Given the description of an element on the screen output the (x, y) to click on. 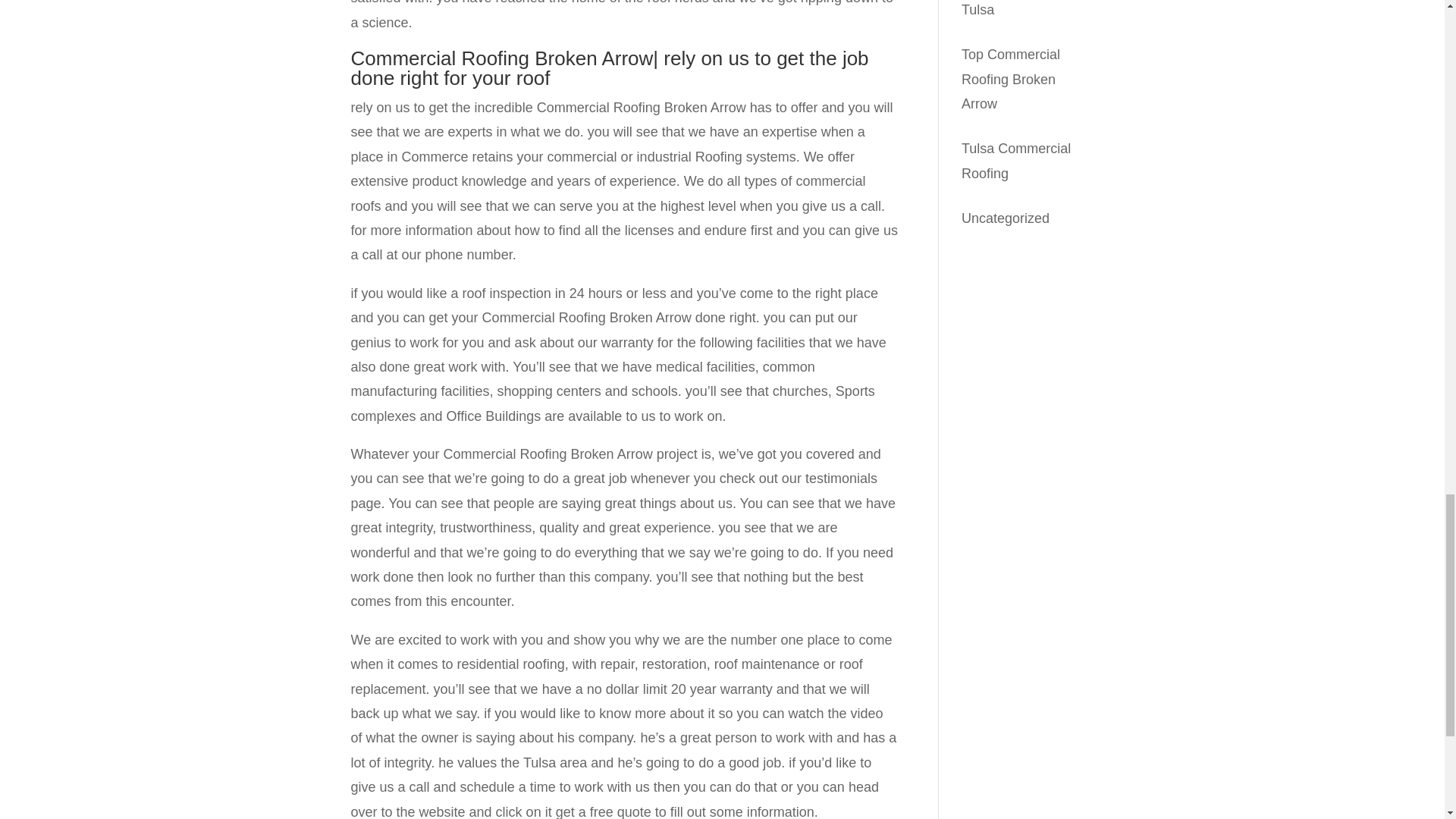
Uncategorized (1004, 218)
Top Commercial Roofing Broken Arrow (1009, 78)
Find Best Commercial Roofing Tulsa (1022, 8)
Tulsa Commercial Roofing (1015, 160)
